Given the description of an element on the screen output the (x, y) to click on. 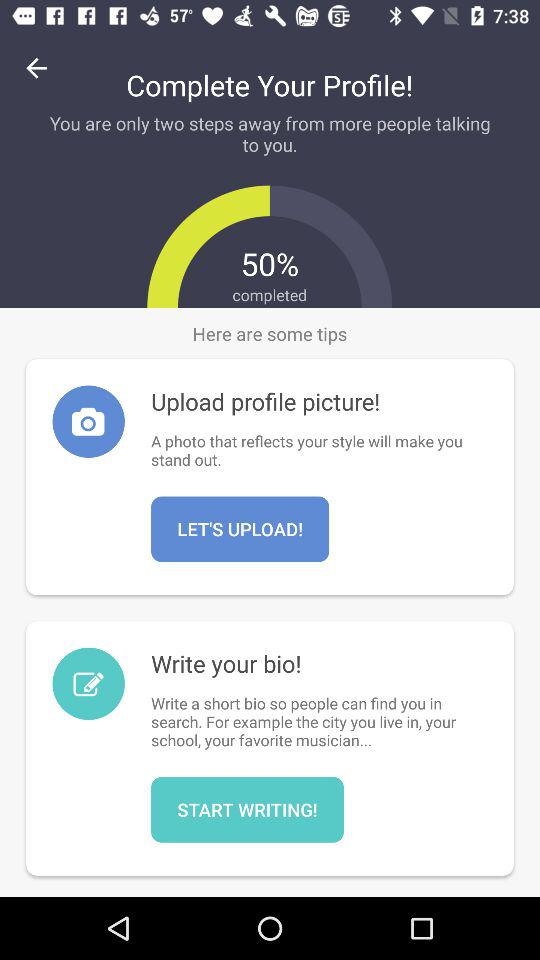
turn off let's upload! item (240, 529)
